Given the description of an element on the screen output the (x, y) to click on. 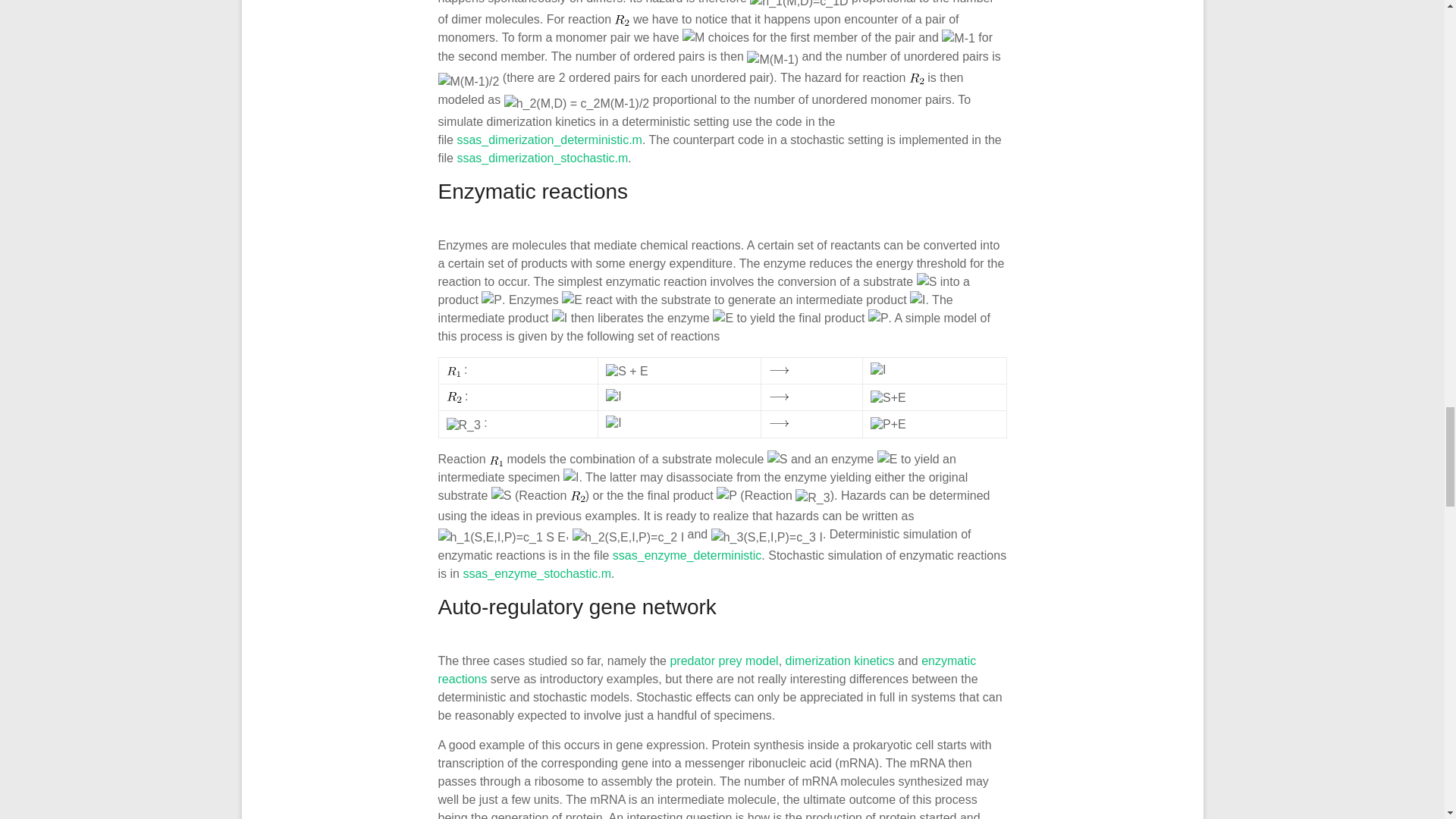
enzymatic reactions (707, 669)
predator prey model (723, 660)
dimerization kinetics (840, 660)
